Given the description of an element on the screen output the (x, y) to click on. 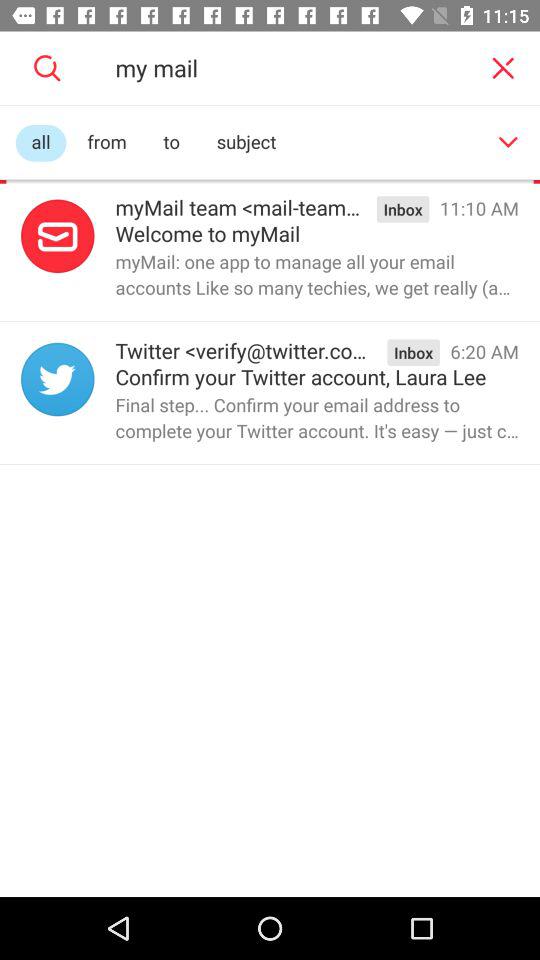
turn off icon next to the my mail icon (502, 67)
